Given the description of an element on the screen output the (x, y) to click on. 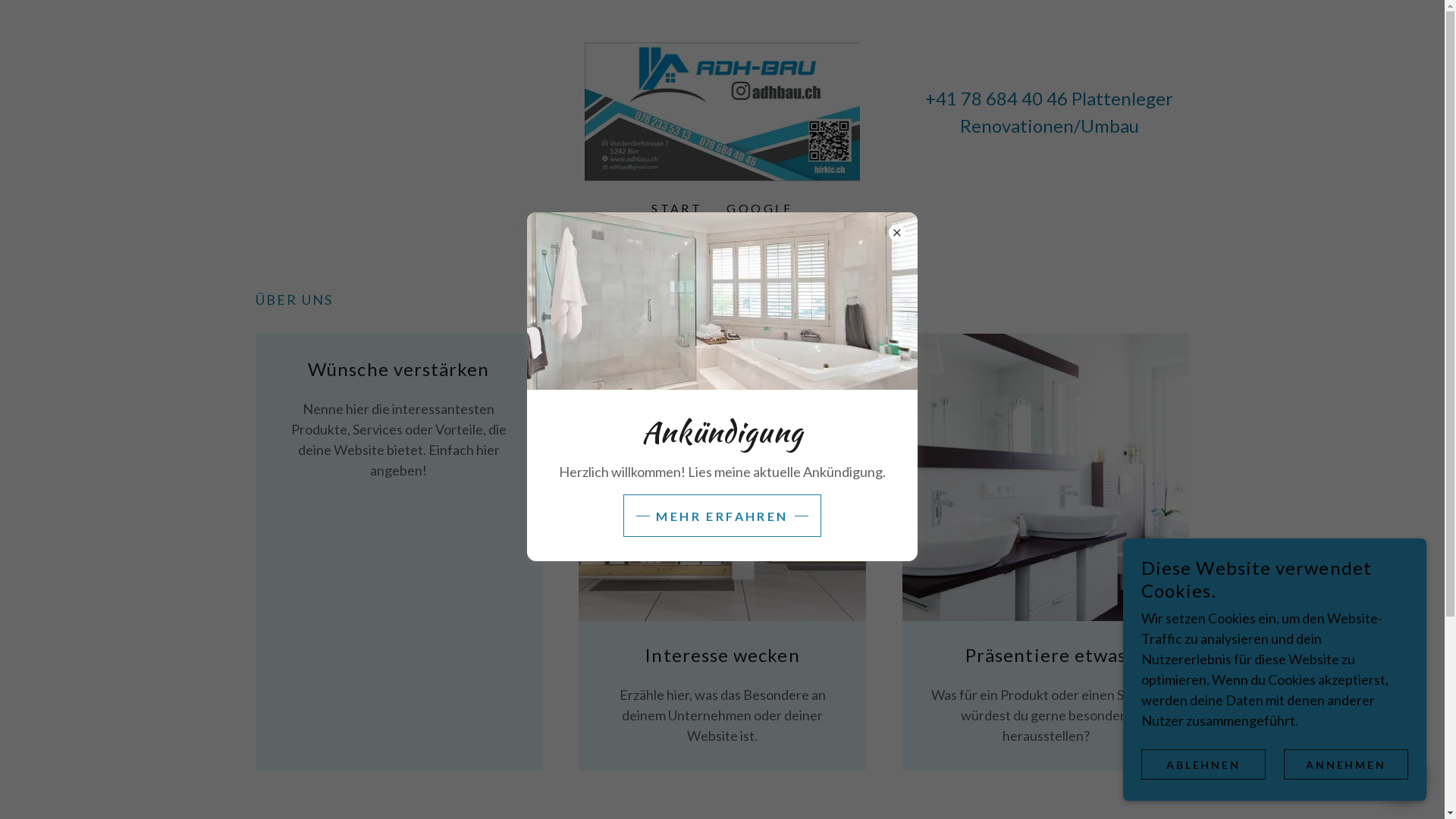
 ADH-BAU
Keramik
Fliesen
Renovation Element type: hover (722, 109)
START Element type: text (676, 208)
MEHR ERFAHREN Element type: text (722, 515)
ABLEHNEN Element type: text (1203, 764)
+41 78 684 40 46 Element type: text (996, 97)
ANNEHMEN Element type: text (1345, 764)
GOOGLE Element type: text (759, 208)
